Given the description of an element on the screen output the (x, y) to click on. 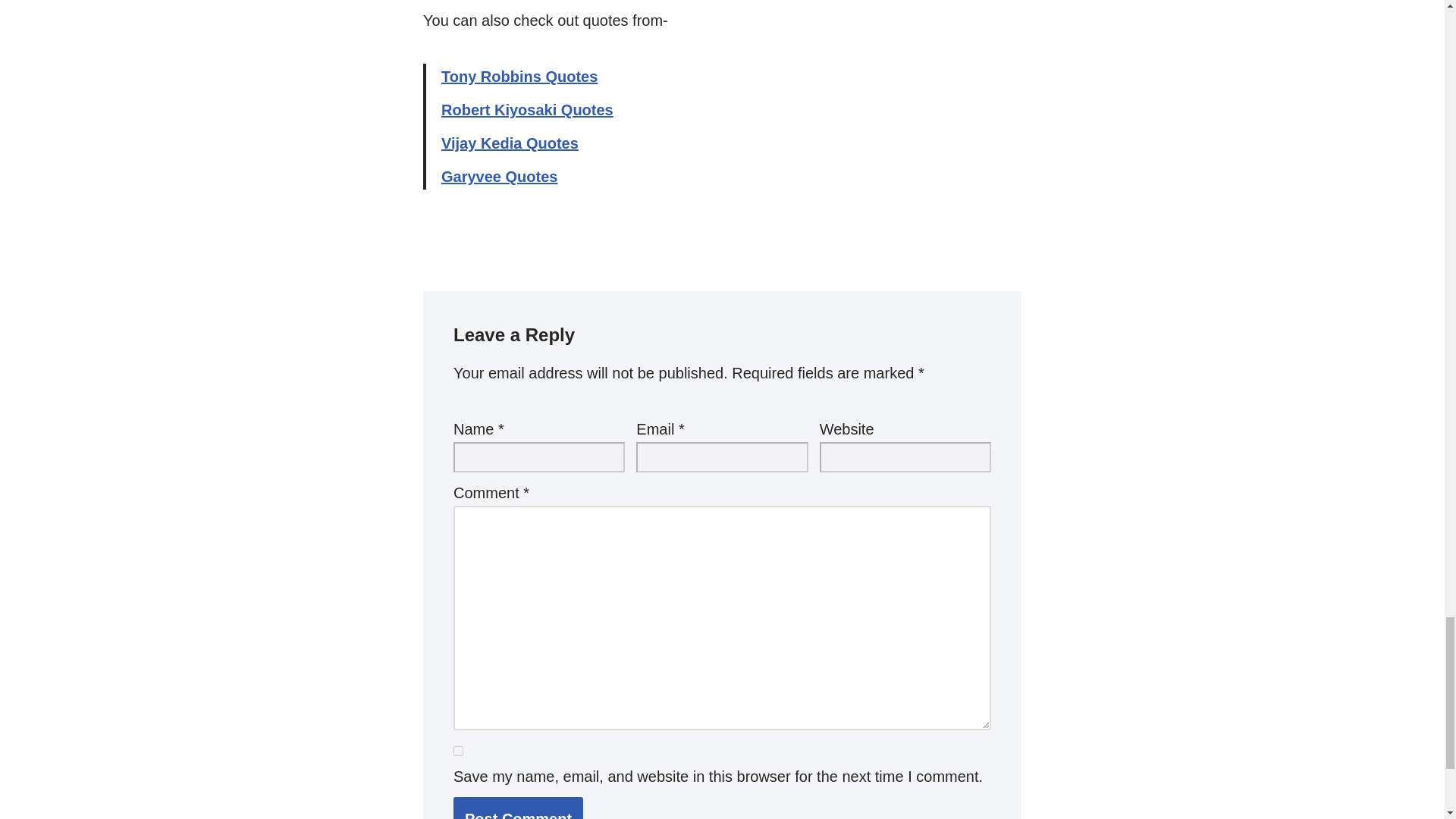
Post Comment (517, 807)
Robert Kiyosaki Quotes (526, 109)
Post Comment (517, 807)
yes (457, 750)
Tony Robbins Quotes (518, 76)
Garyvee Quotes (499, 176)
Vijay Kedia Quotes (509, 143)
